Given the description of an element on the screen output the (x, y) to click on. 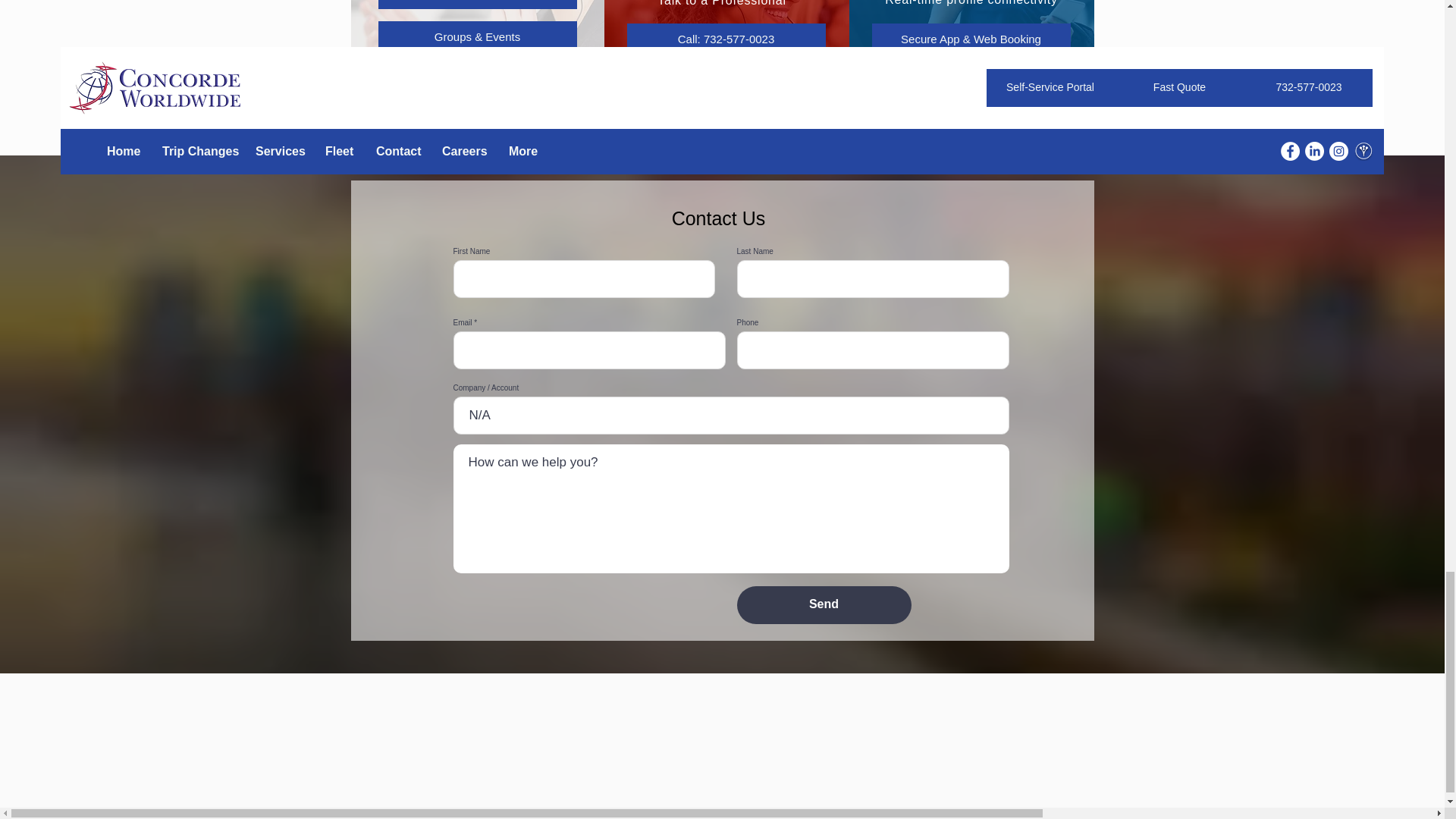
Billing (476, 80)
Reservations Team (476, 4)
Send (823, 605)
Update a Reservation (971, 80)
Call: 732-577-0023 (725, 38)
